Given the description of an element on the screen output the (x, y) to click on. 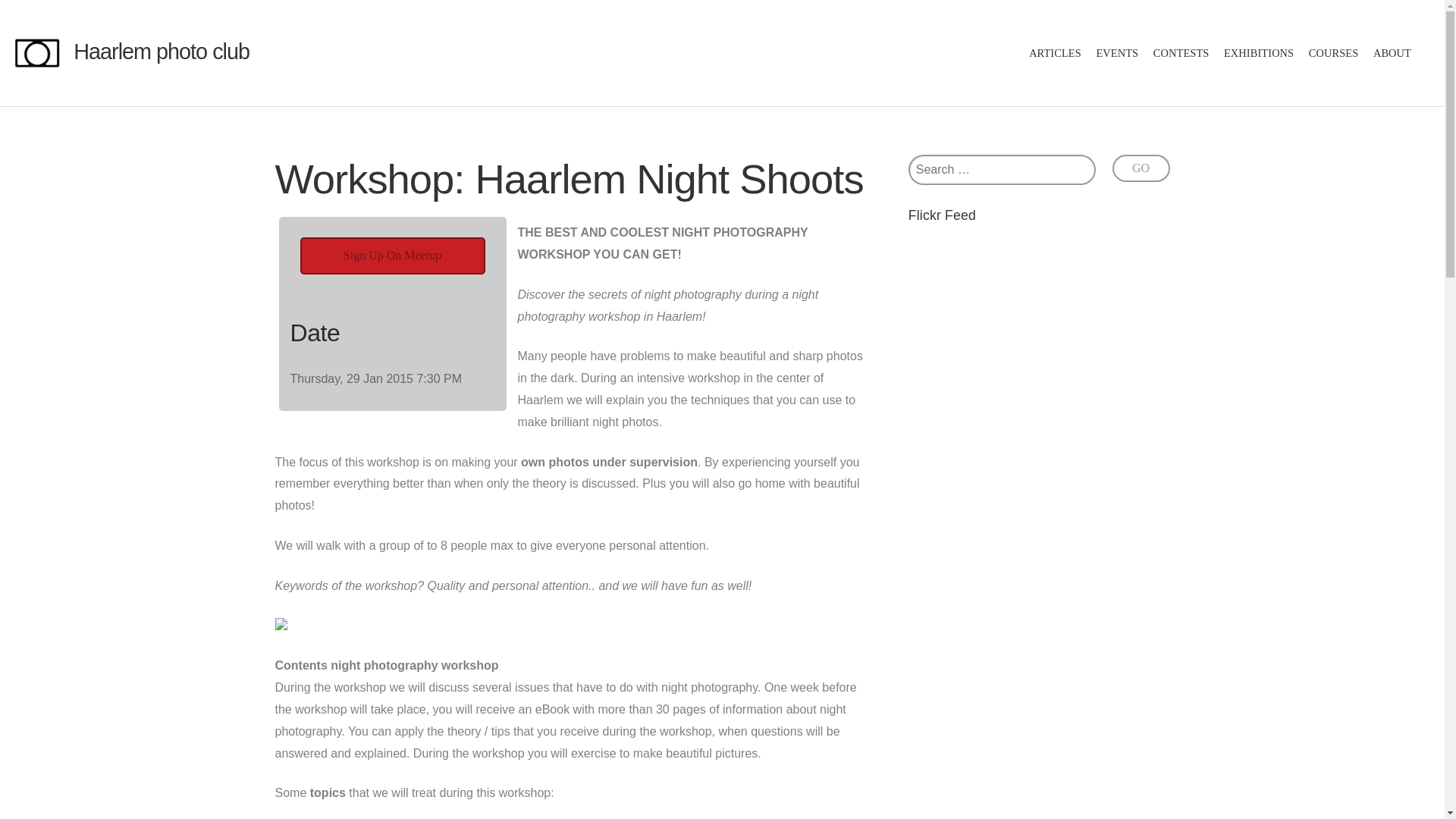
Go (1141, 167)
Go (1141, 167)
Sign Up On Meetup (391, 255)
Haarlem photo club (161, 51)
